Given the description of an element on the screen output the (x, y) to click on. 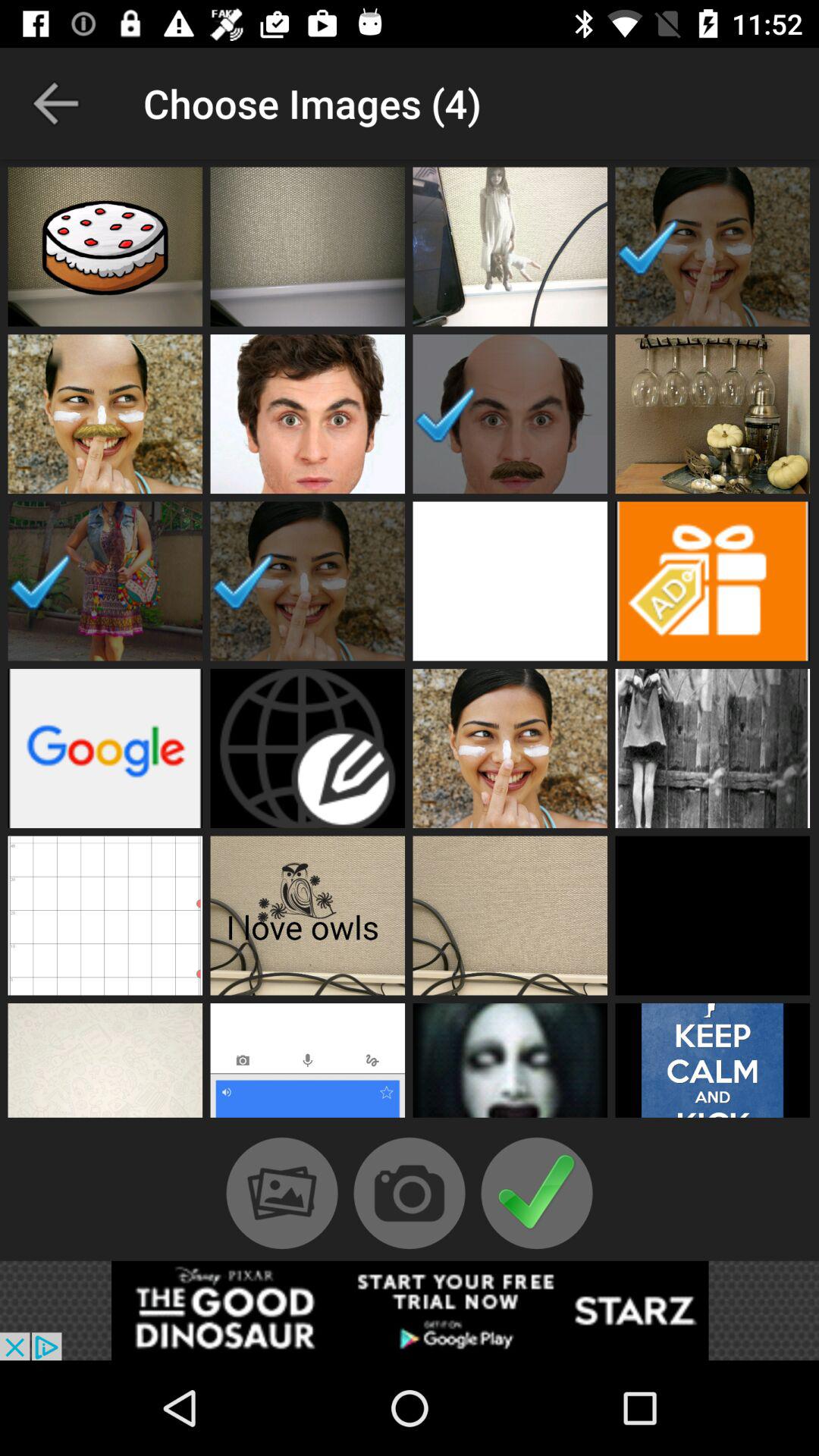
include photo in video (712, 413)
